Given the description of an element on the screen output the (x, y) to click on. 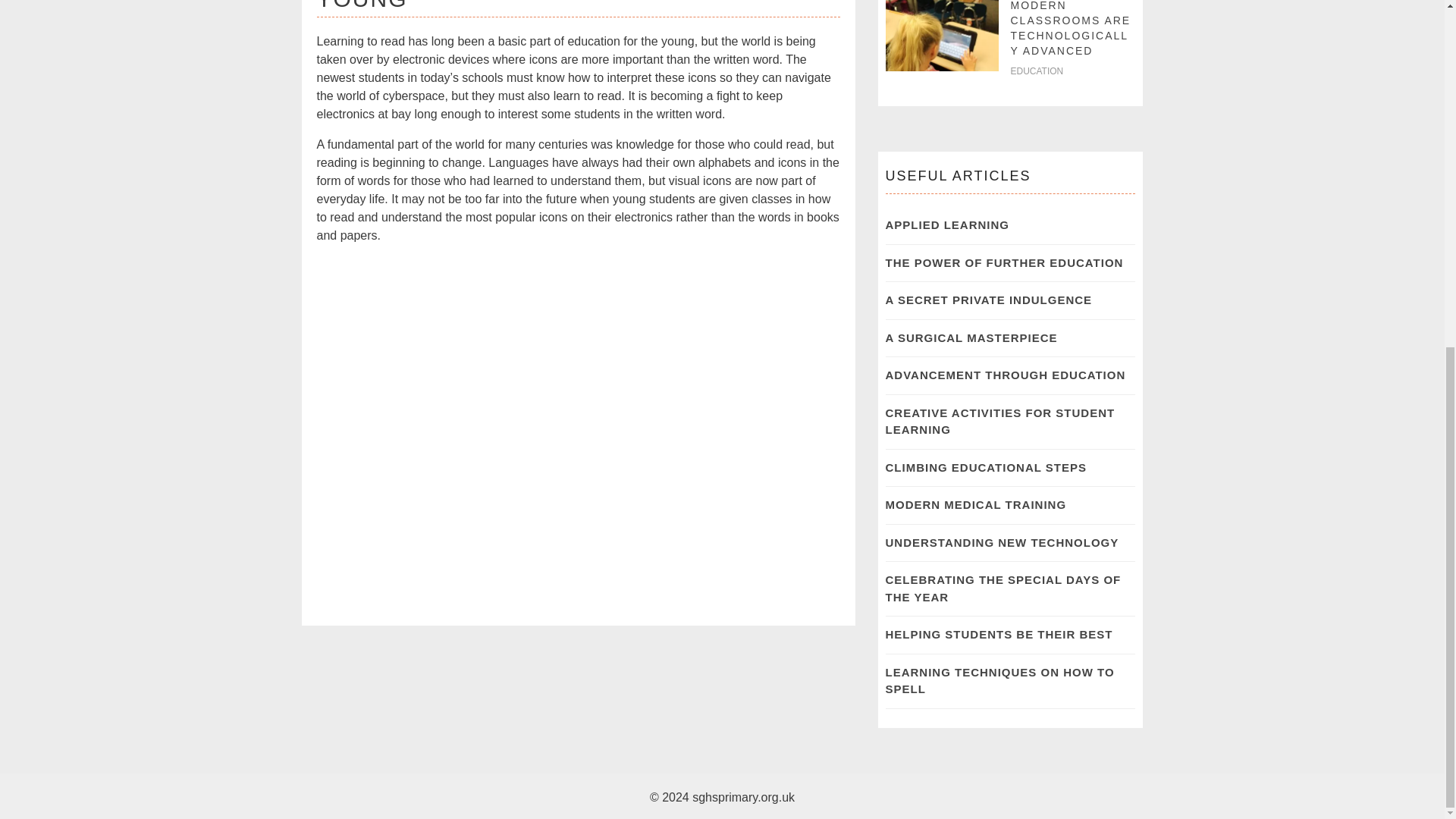
CREATIVE ACTIVITIES FOR STUDENT LEARNING (1000, 421)
A SECRET PRIVATE INDULGENCE (989, 299)
MODERN MEDICAL TRAINING (976, 504)
CLIMBING EDUCATIONAL STEPS (985, 467)
A SURGICAL MASTERPIECE (971, 337)
MODERN CLASSROOMS ARE TECHNOLOGICALLY ADVANCED (1070, 28)
UNDERSTANDING NEW TECHNOLOGY (1002, 542)
ADVANCEMENT THROUGH EDUCATION (1005, 374)
THE POWER OF FURTHER EDUCATION (1004, 262)
APPLIED LEARNING (947, 224)
